Given the description of an element on the screen output the (x, y) to click on. 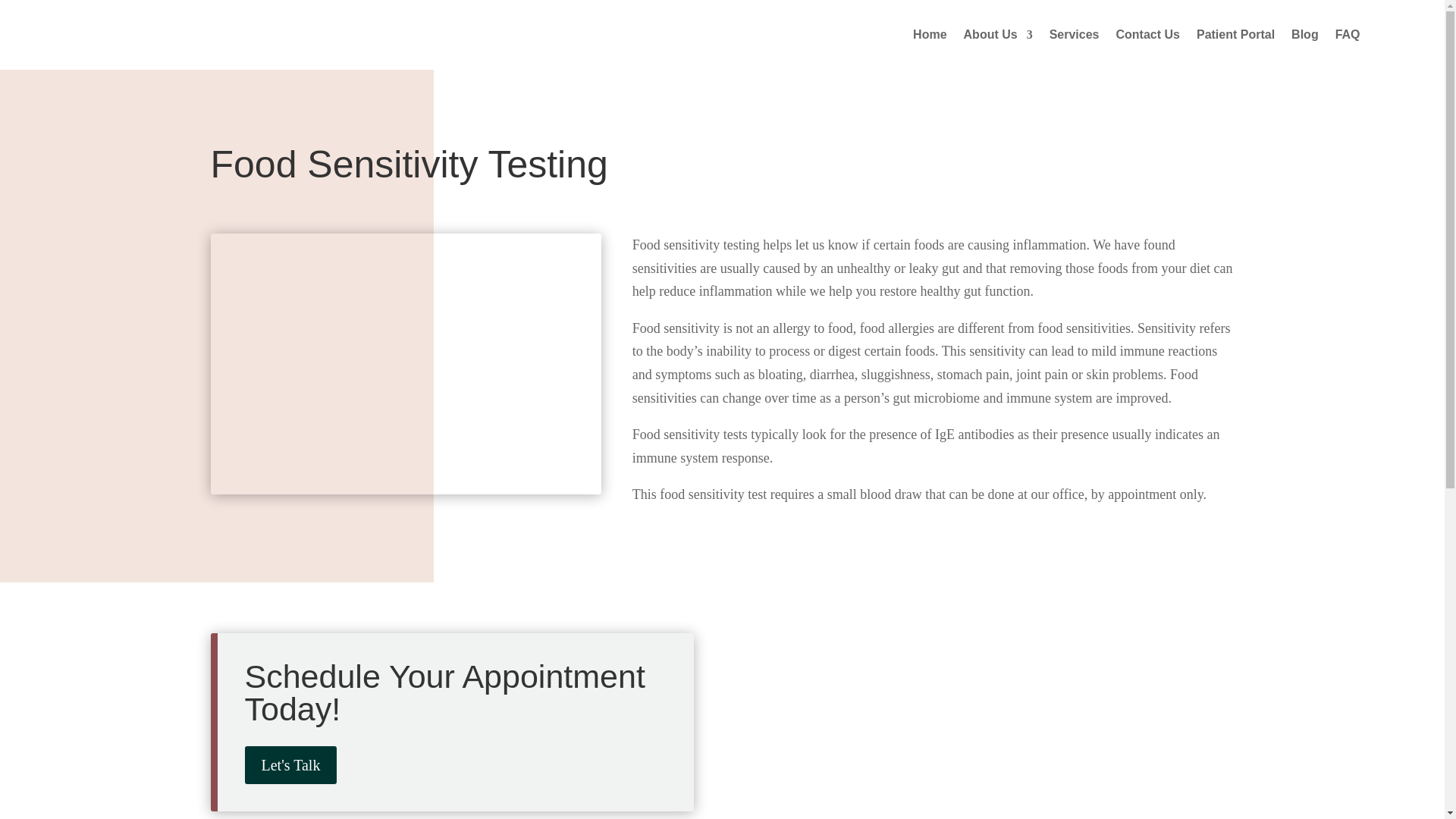
Let's Talk (290, 764)
healthy gut (406, 363)
Patient Portal (1235, 34)
Contact Us (1147, 34)
About Us (997, 34)
